Given the description of an element on the screen output the (x, y) to click on. 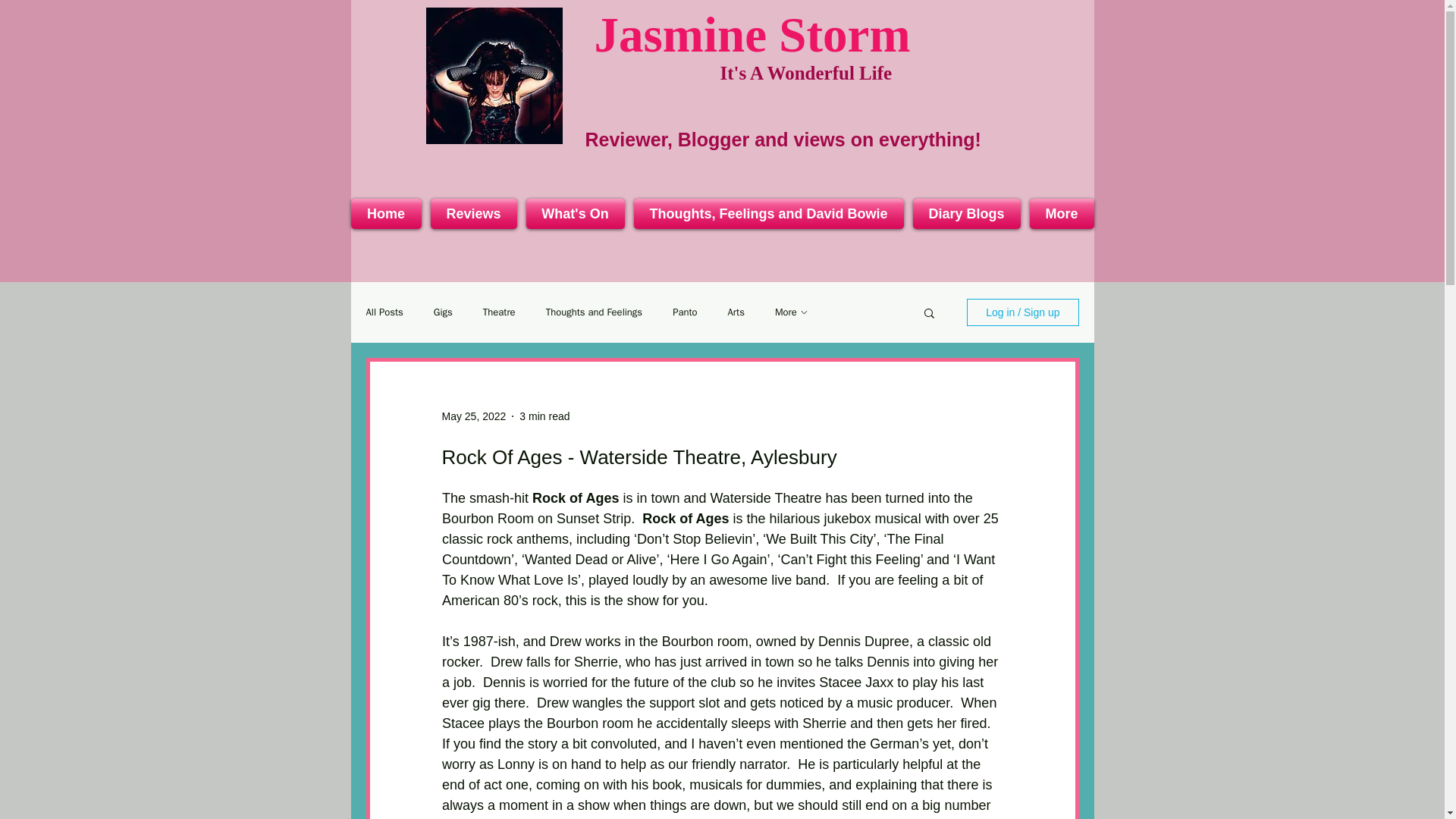
Reviews (473, 214)
Thoughts and Feelings (594, 312)
Diary Blogs (966, 214)
3 min read (544, 415)
Home (387, 214)
All Posts (384, 312)
Thoughts, Feelings and David Bowie (768, 214)
Gigs (442, 312)
Theatre (499, 312)
Arts (736, 312)
